Given the description of an element on the screen output the (x, y) to click on. 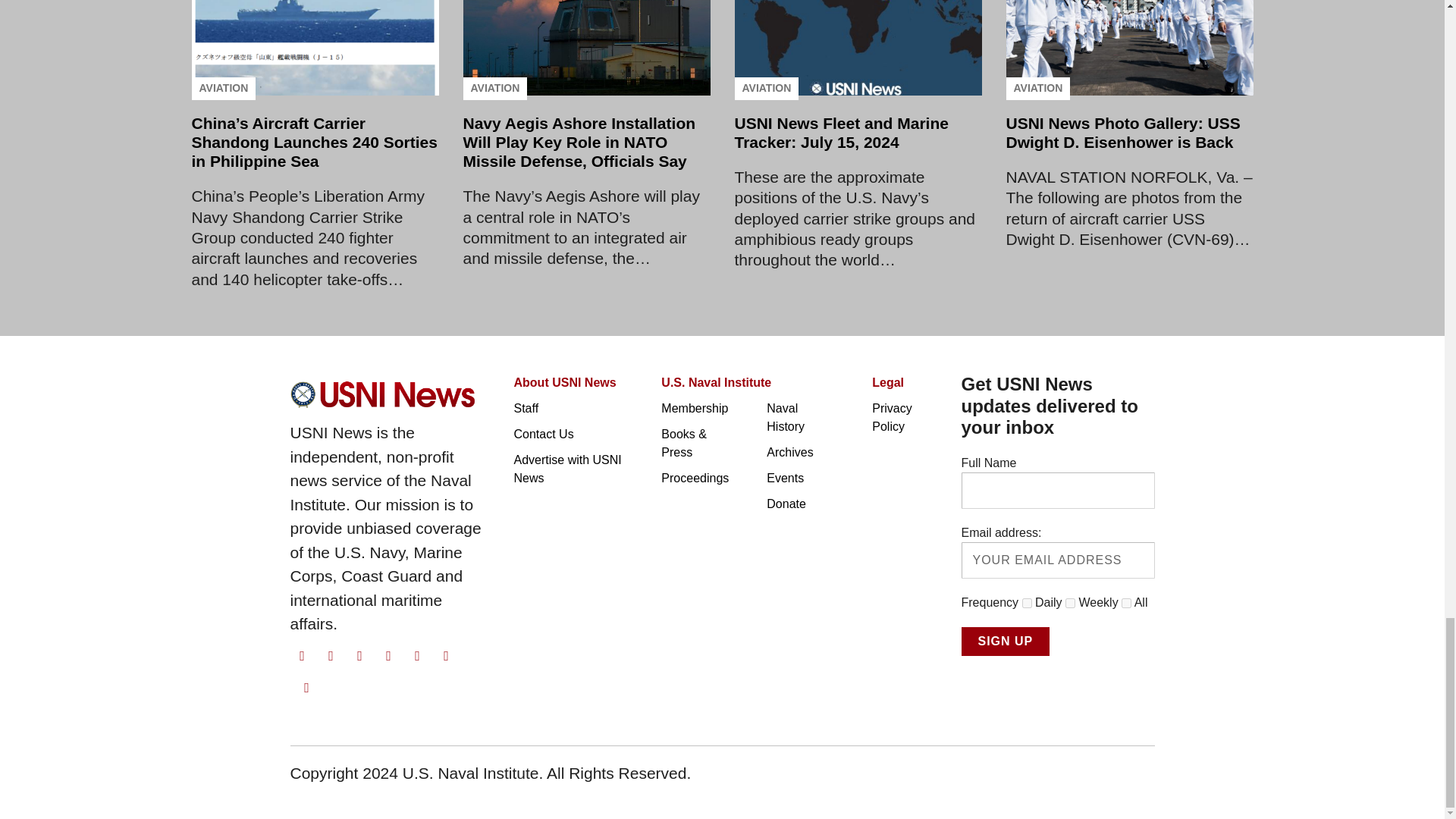
Sign up (1004, 641)
a4211728d9 (1126, 603)
1f9176d61b (1027, 603)
bf28bbb352 (1070, 603)
